Given the description of an element on the screen output the (x, y) to click on. 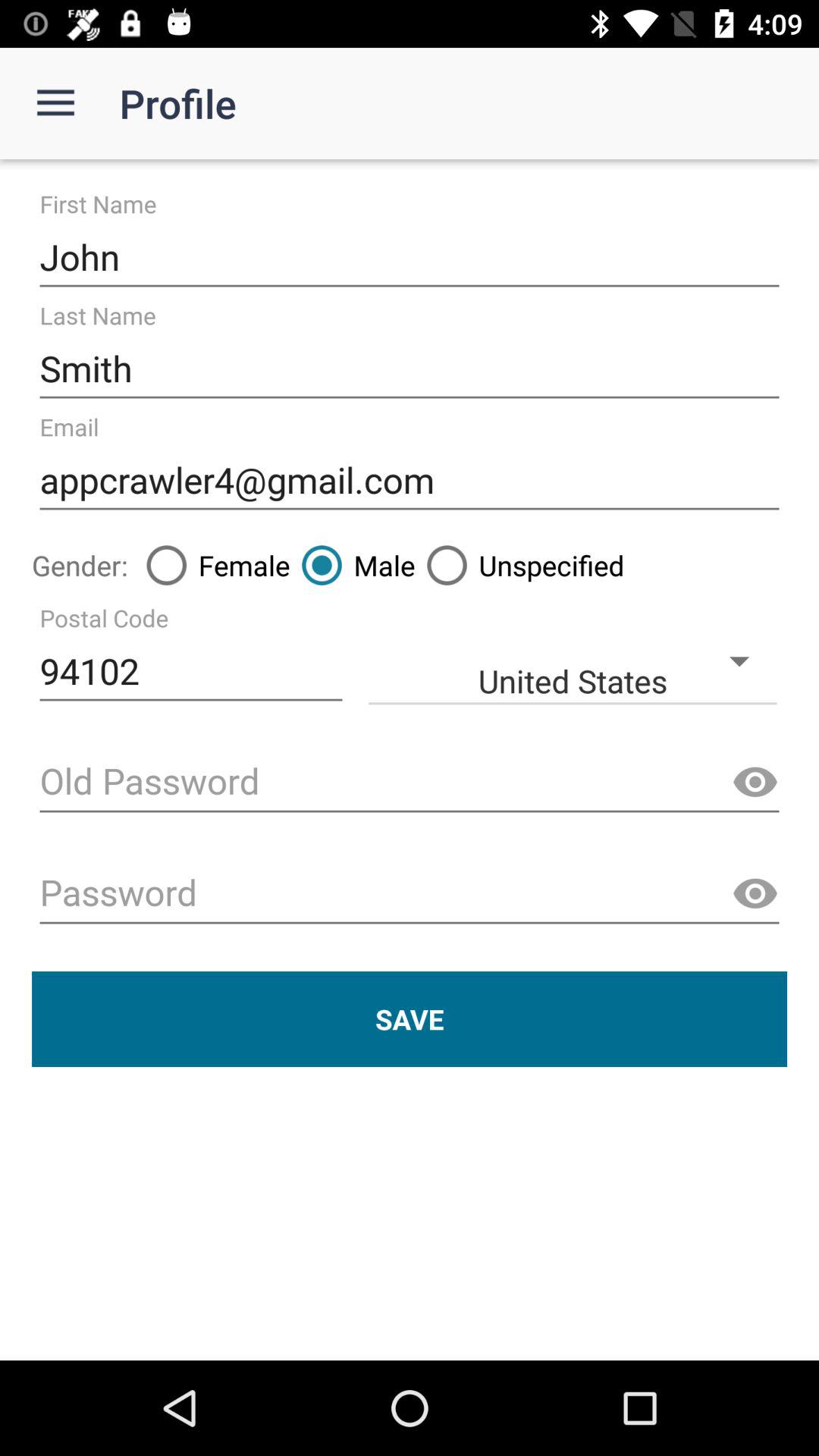
press the smith (409, 369)
